Given the description of an element on the screen output the (x, y) to click on. 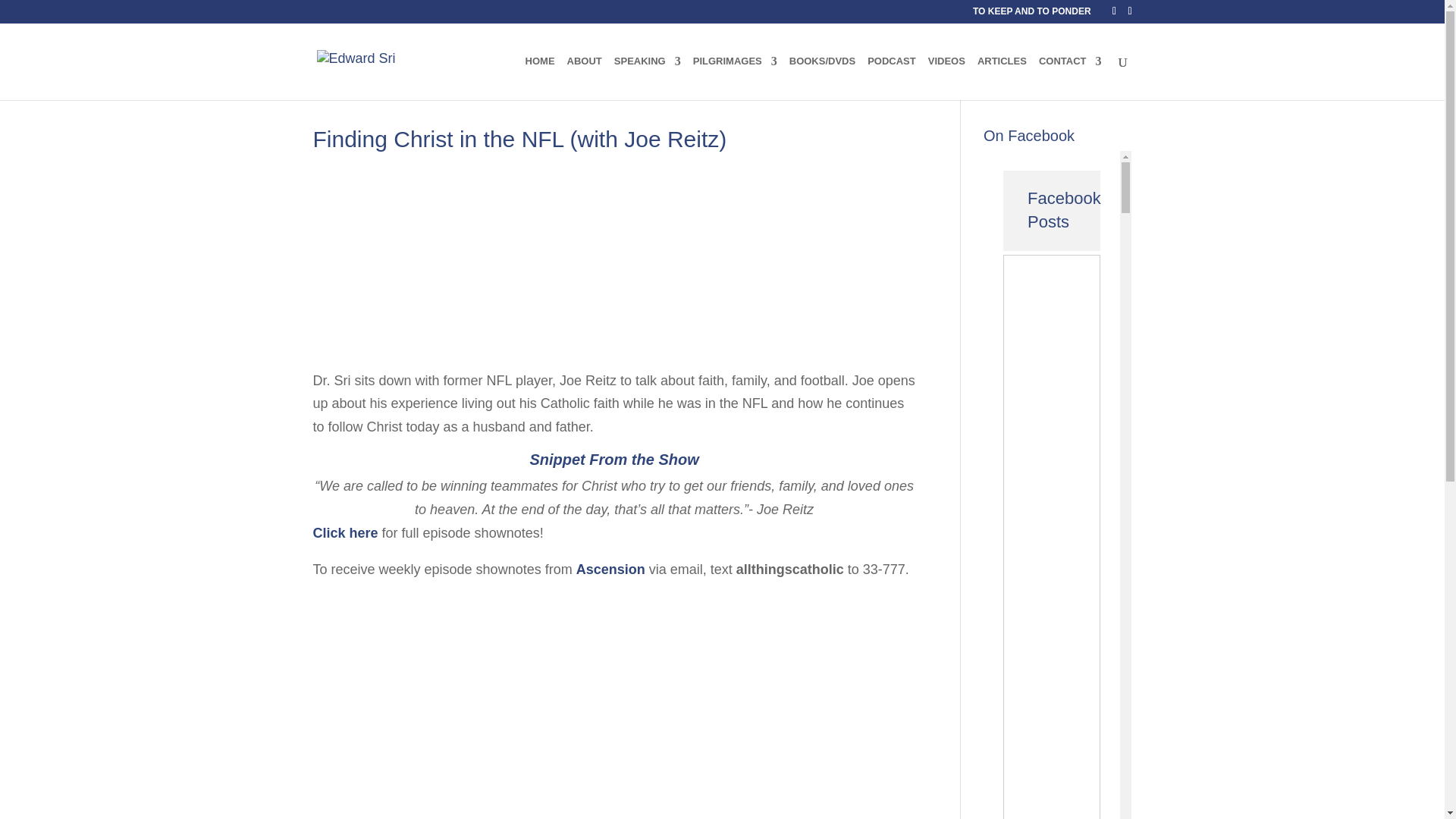
PILGRIMAGES (735, 77)
Click here (345, 532)
SPEAKING (647, 77)
ARTICLES (1001, 77)
Ascension (610, 569)
PODCAST (891, 77)
CONTACT (1070, 77)
